Given the description of an element on the screen output the (x, y) to click on. 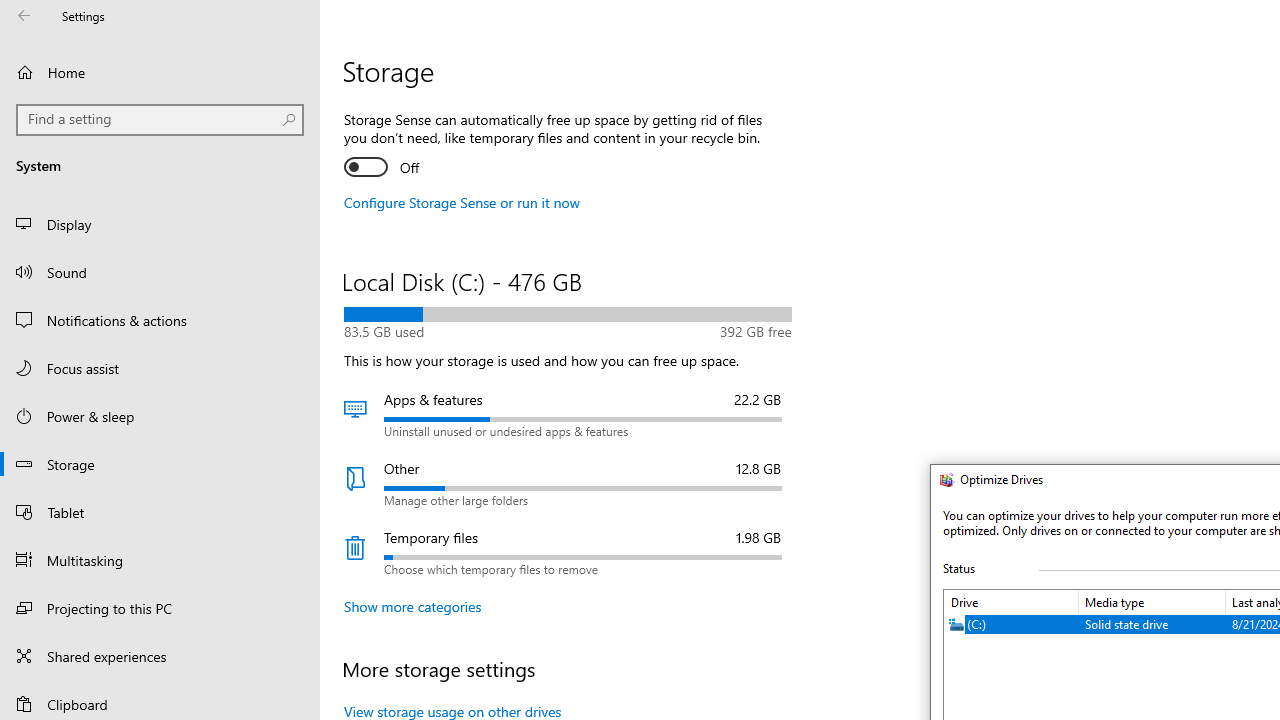
System (941, 482)
System (941, 482)
